Given the description of an element on the screen output the (x, y) to click on. 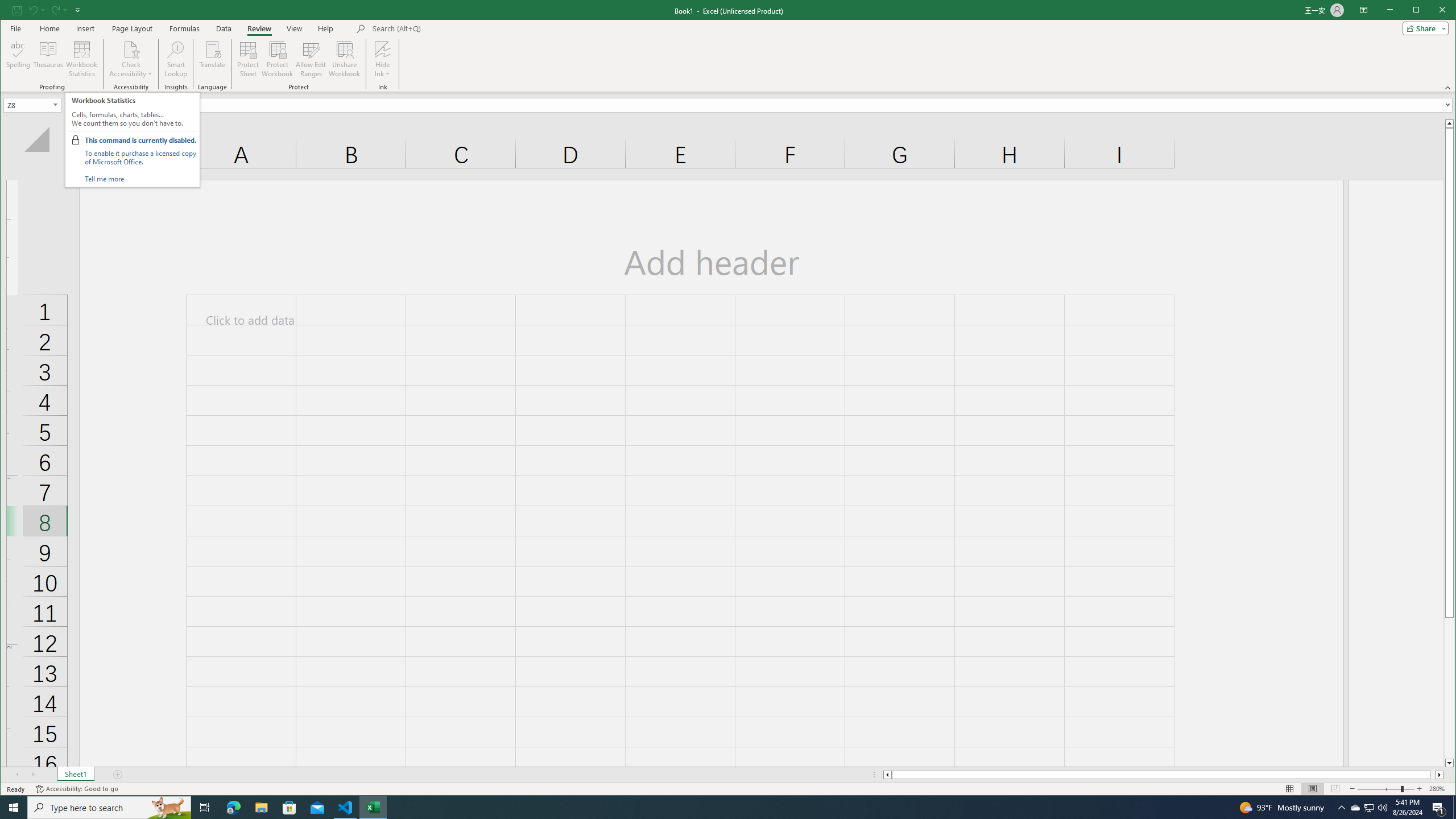
Column left (1368, 807)
Spelling... (886, 774)
Notification Chevron (18, 59)
Save (1341, 807)
User Promoted Notification Area (16, 9)
Sheet1 (1368, 807)
File Explorer (75, 774)
Zoom (261, 807)
Help (1384, 788)
Close (325, 28)
Insert (1444, 11)
